Given the description of an element on the screen output the (x, y) to click on. 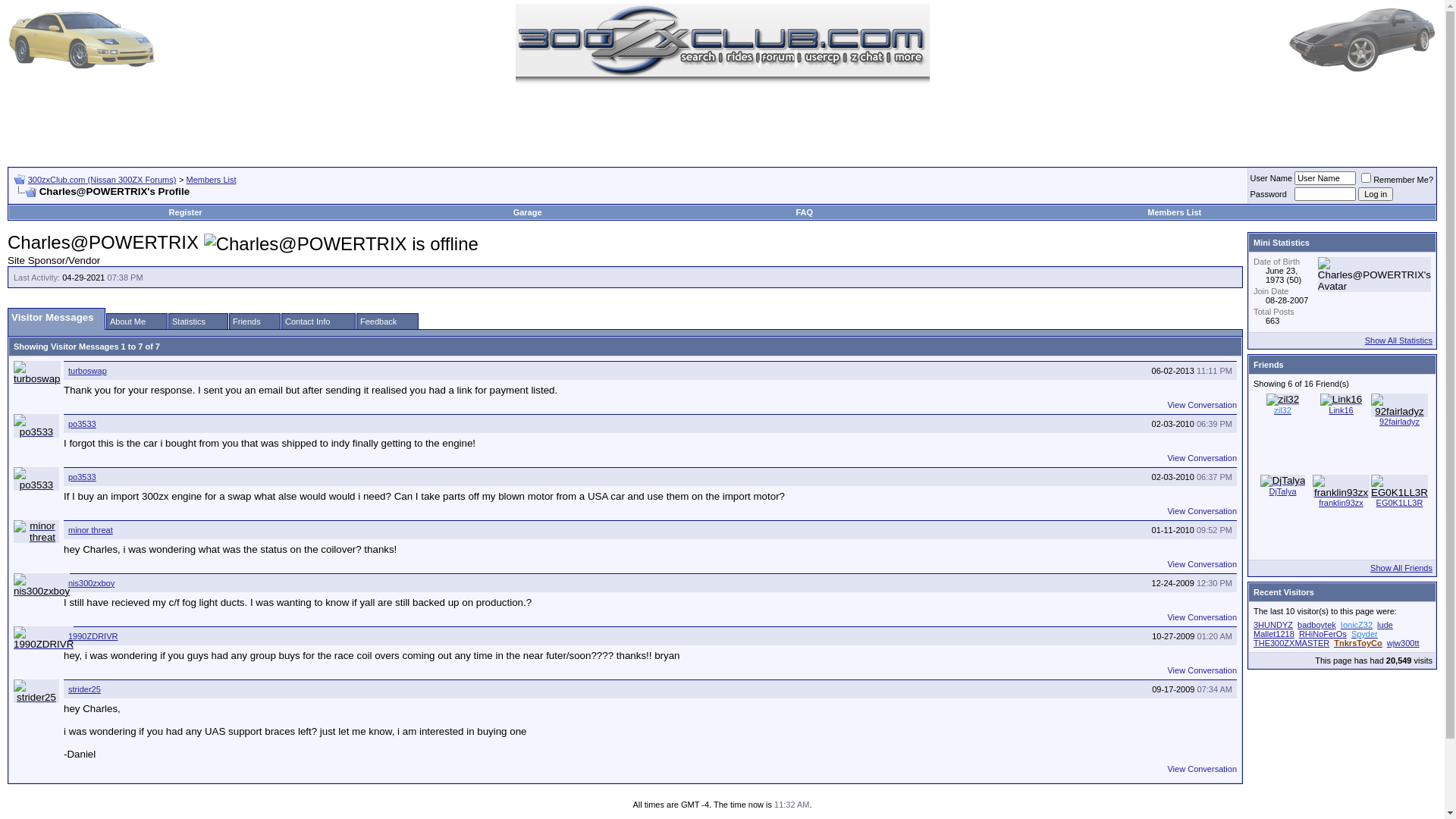
Show All Statistics Element type: text (1398, 340)
EG0K1LL3R Element type: text (1399, 502)
strider25 Element type: hover (36, 690)
DjTalya Element type: text (1281, 490)
Charles@POWERTRIX's Avatar Element type: hover (1373, 274)
92fairladyz Element type: text (1399, 421)
Reload this Page Element type: hover (24, 191)
badboytek Element type: text (1316, 624)
View Conversation Element type: text (1201, 457)
300zxClub.com (Nissan 300ZX Forums) Element type: text (102, 179)
lude Element type: text (1385, 624)
Members List Element type: text (211, 179)
EG0K1LL3R Element type: hover (1399, 486)
Charles@POWERTRIX is offline Element type: hover (340, 243)
franklin93zx Element type: text (1340, 502)
po3533 Element type: text (82, 423)
turboswap Element type: hover (36, 372)
Register Element type: text (185, 211)
franklin93zx Element type: hover (1340, 486)
po3533 Element type: hover (36, 425)
minor threat Element type: text (90, 529)
View Conversation Element type: text (1201, 669)
Mallet1218 Element type: text (1273, 633)
View Conversation Element type: text (1201, 616)
nis300zxboy Element type: hover (41, 584)
turboswap Element type: text (87, 370)
zil32 Element type: hover (1282, 399)
DjTalya Element type: hover (1282, 480)
Show All Friends Element type: text (1401, 567)
View Conversation Element type: text (1201, 563)
1990ZDRIVR Element type: hover (43, 637)
IonicZ32 Element type: text (1356, 624)
nis300zxboy Element type: text (91, 582)
1990ZDRIVR Element type: text (92, 635)
Members List Element type: text (1174, 211)
FAQ Element type: text (803, 211)
Spyder Element type: text (1364, 633)
zil32 Element type: text (1282, 409)
strider25 Element type: text (84, 688)
View Conversation Element type: text (1201, 768)
Log in Element type: text (1375, 193)
Link16 Element type: text (1340, 409)
92fairladyz Element type: hover (1399, 405)
3HUNDYZ Element type: text (1272, 624)
Go Back Element type: hover (19, 179)
Garage Element type: text (528, 211)
Link16 Element type: hover (1340, 399)
minor threat Element type: hover (36, 531)
RHiNoFerOs Element type: text (1322, 633)
View Conversation Element type: text (1201, 404)
wjw300tt Element type: text (1402, 642)
View Conversation Element type: text (1201, 510)
TnkrsToyCo Element type: text (1357, 642)
po3533 Element type: hover (36, 478)
THE300ZXMASTER Element type: text (1291, 642)
po3533 Element type: text (82, 476)
